Given the description of an element on the screen output the (x, y) to click on. 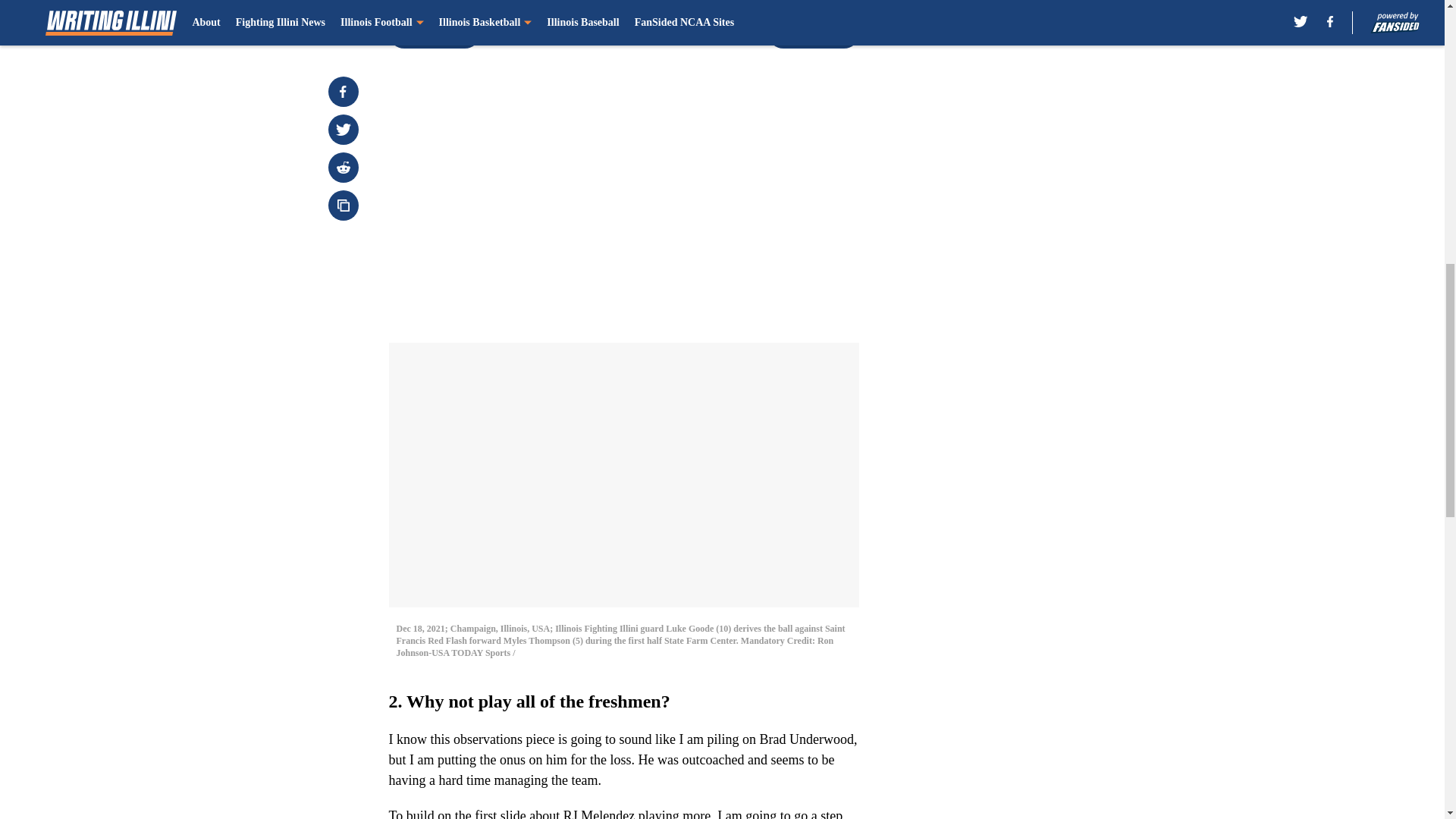
Next (813, 33)
Prev (433, 33)
